Given the description of an element on the screen output the (x, y) to click on. 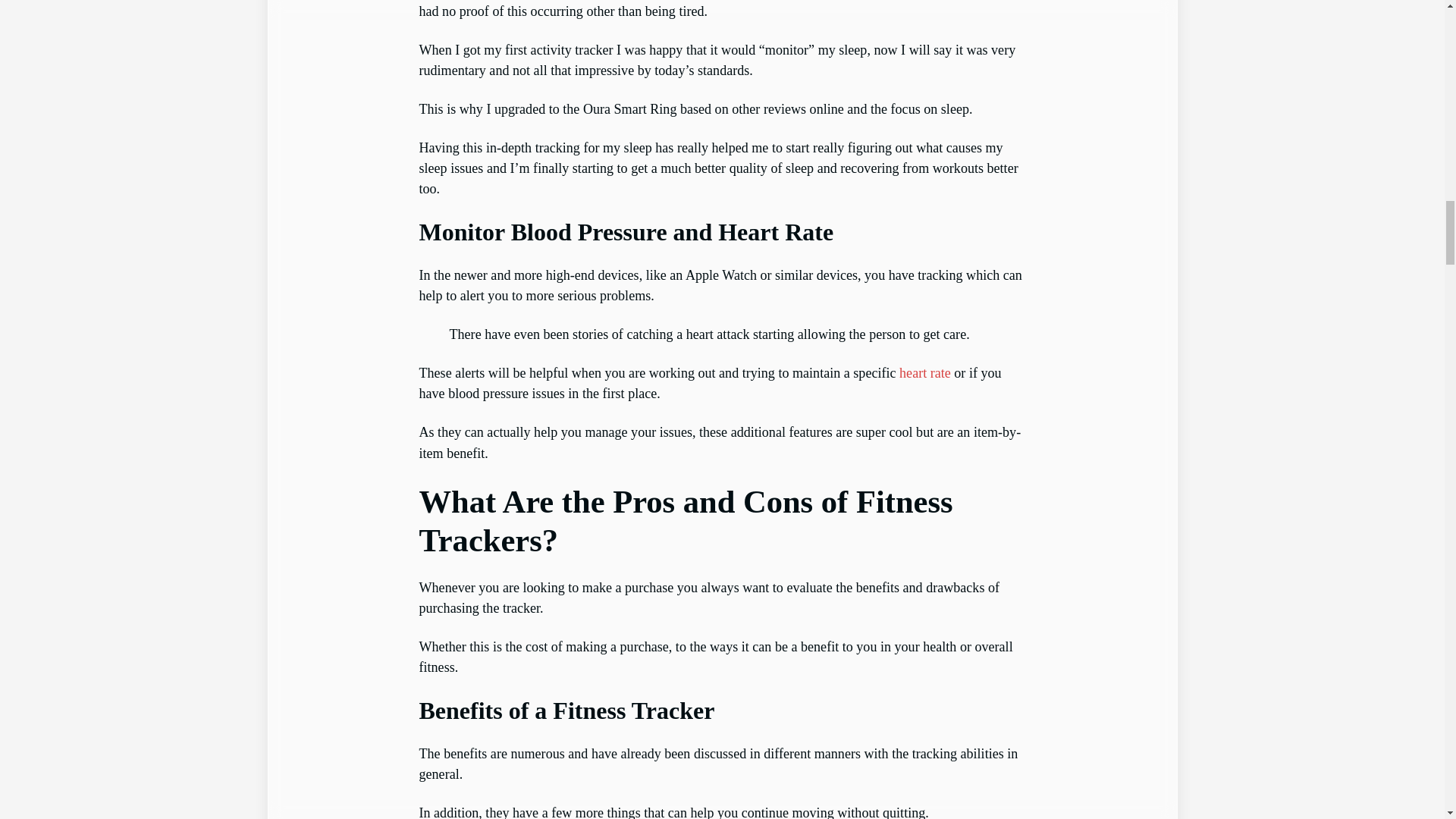
heart rate (924, 372)
